Given the description of an element on the screen output the (x, y) to click on. 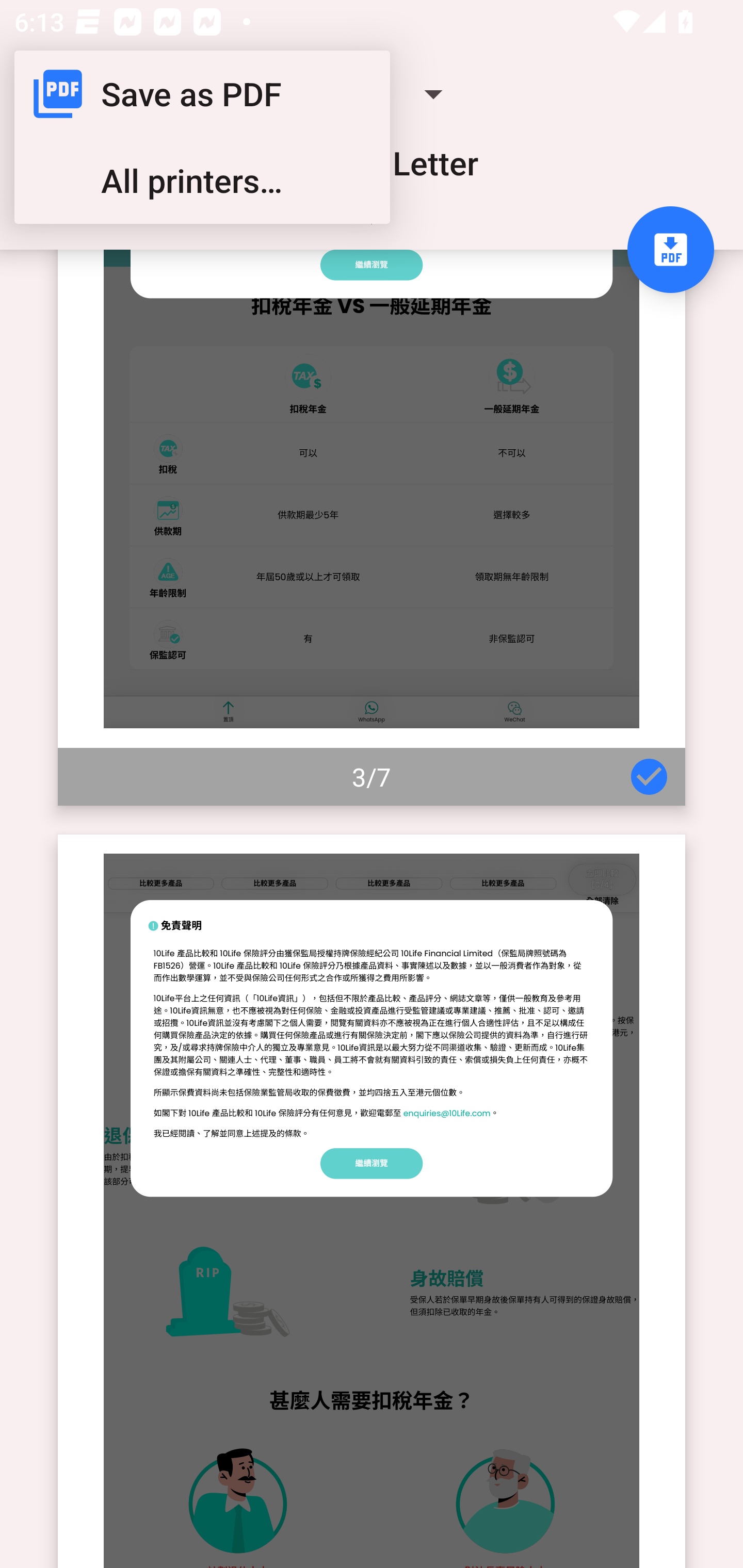
Save as PDF (202, 93)
All printers… (202, 180)
